Given the description of an element on the screen output the (x, y) to click on. 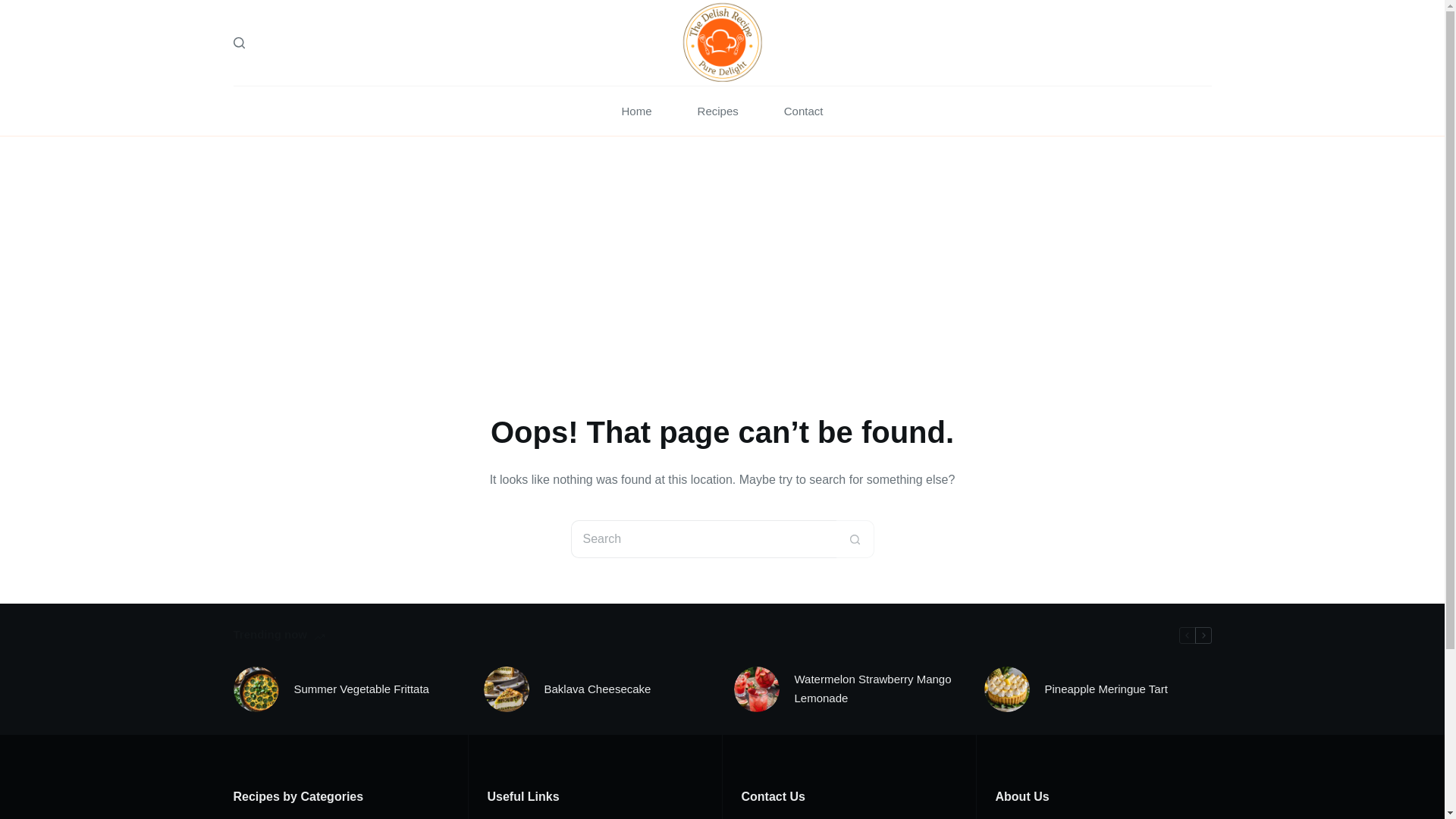
Baklava Cheesecake (597, 689)
Skip to content (15, 7)
Watermelon Strawberry Mango Lemonade (877, 689)
Contact (803, 110)
Summer Vegetable Frittata (361, 689)
Pineapple Meringue Tart (1106, 689)
Search for... (702, 538)
Recipes (718, 110)
Home (636, 110)
